Given the description of an element on the screen output the (x, y) to click on. 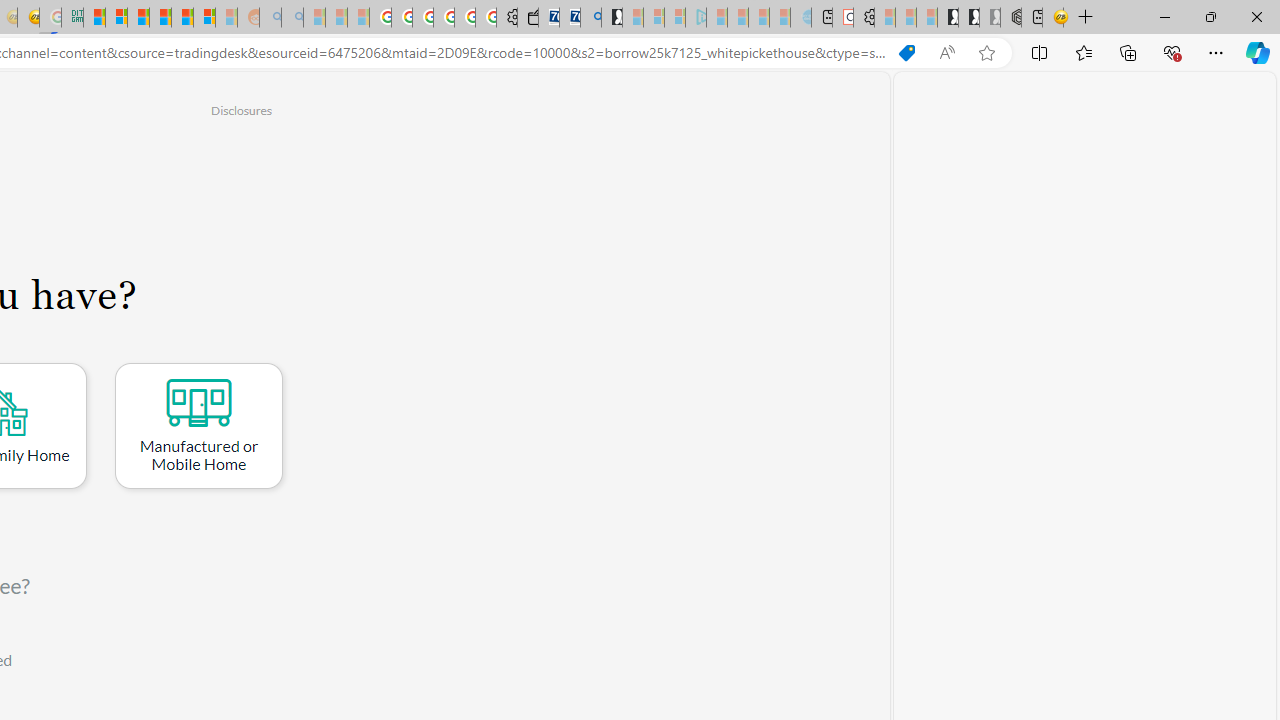
Expert Portfolios (160, 17)
